Given the description of an element on the screen output the (x, y) to click on. 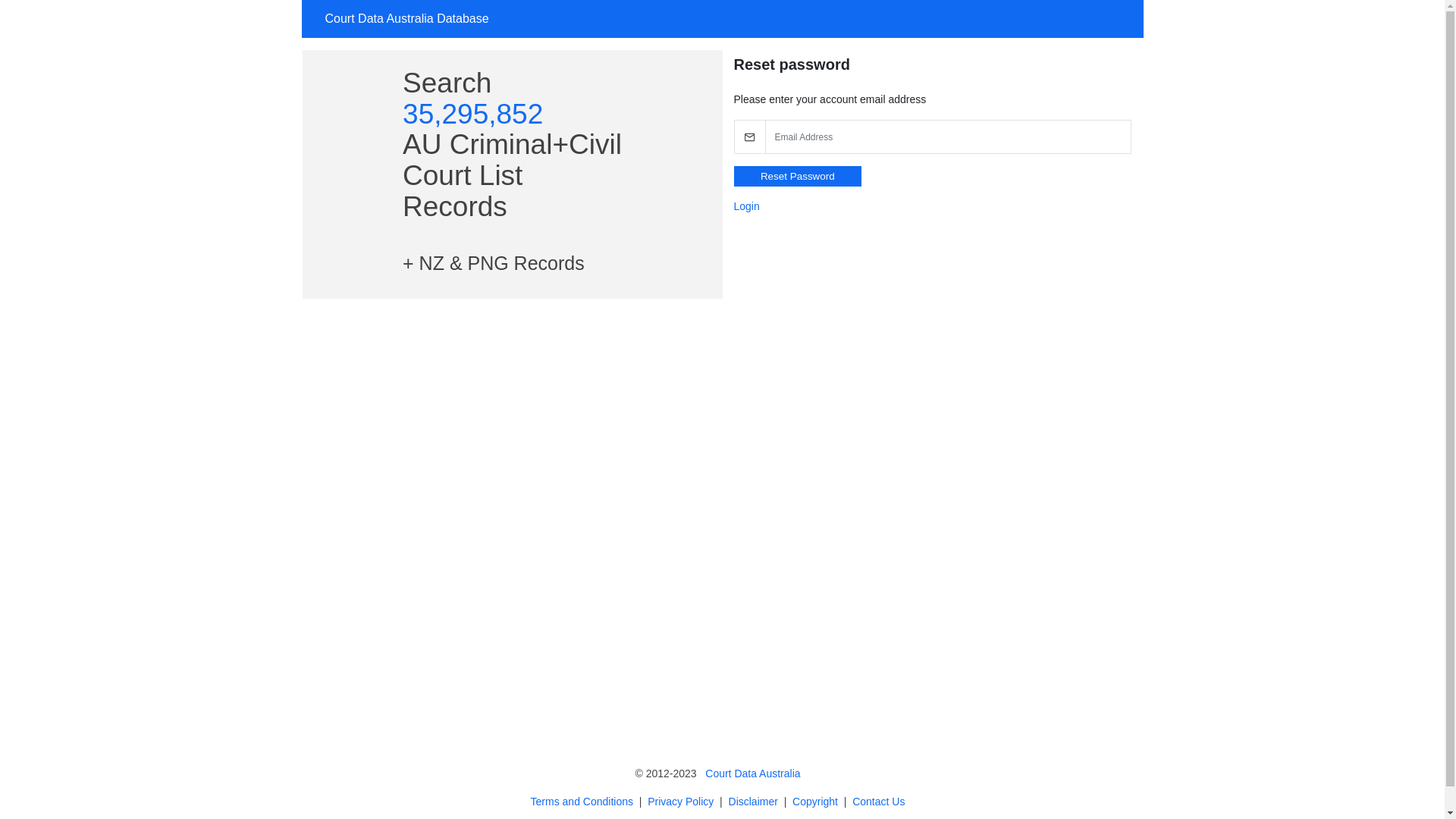
      Reset Password       Element type: text (798, 176)
Court Data Australia Element type: text (752, 773)
Court Data Australia Database Element type: text (406, 18)
Disclaimer Element type: text (753, 801)
Login Element type: text (746, 206)
Terms and Conditions Element type: text (581, 801)
Copyright Element type: text (814, 801)
Privacy Policy Element type: text (680, 801)
Contact Us Element type: text (878, 801)
